Given the description of an element on the screen output the (x, y) to click on. 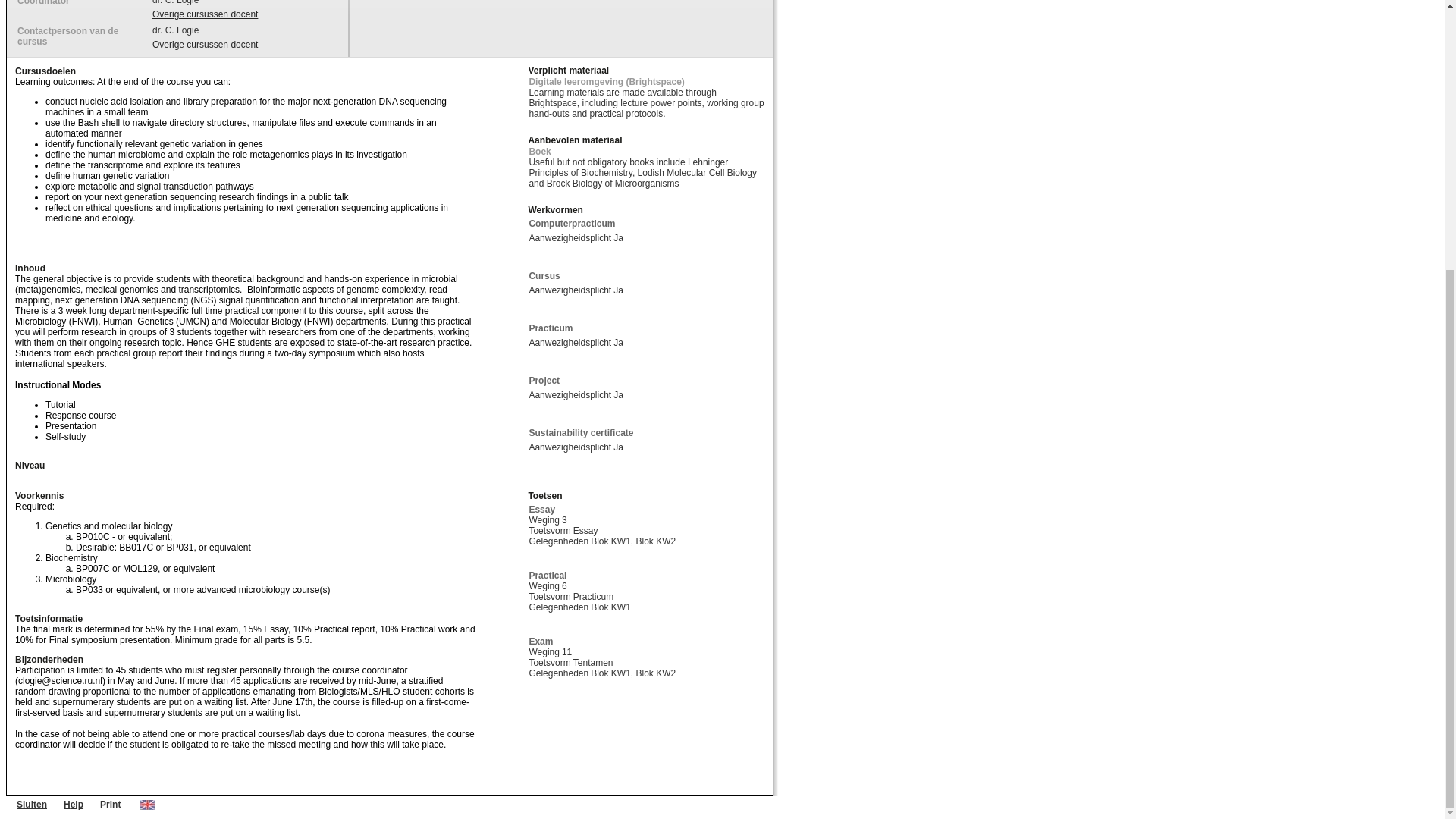
Print (110, 804)
Overige cursussen docent (204, 14)
Help (73, 804)
Sluiten (31, 804)
Overige cursussen docent (204, 44)
Switch to English (146, 804)
